Given the description of an element on the screen output the (x, y) to click on. 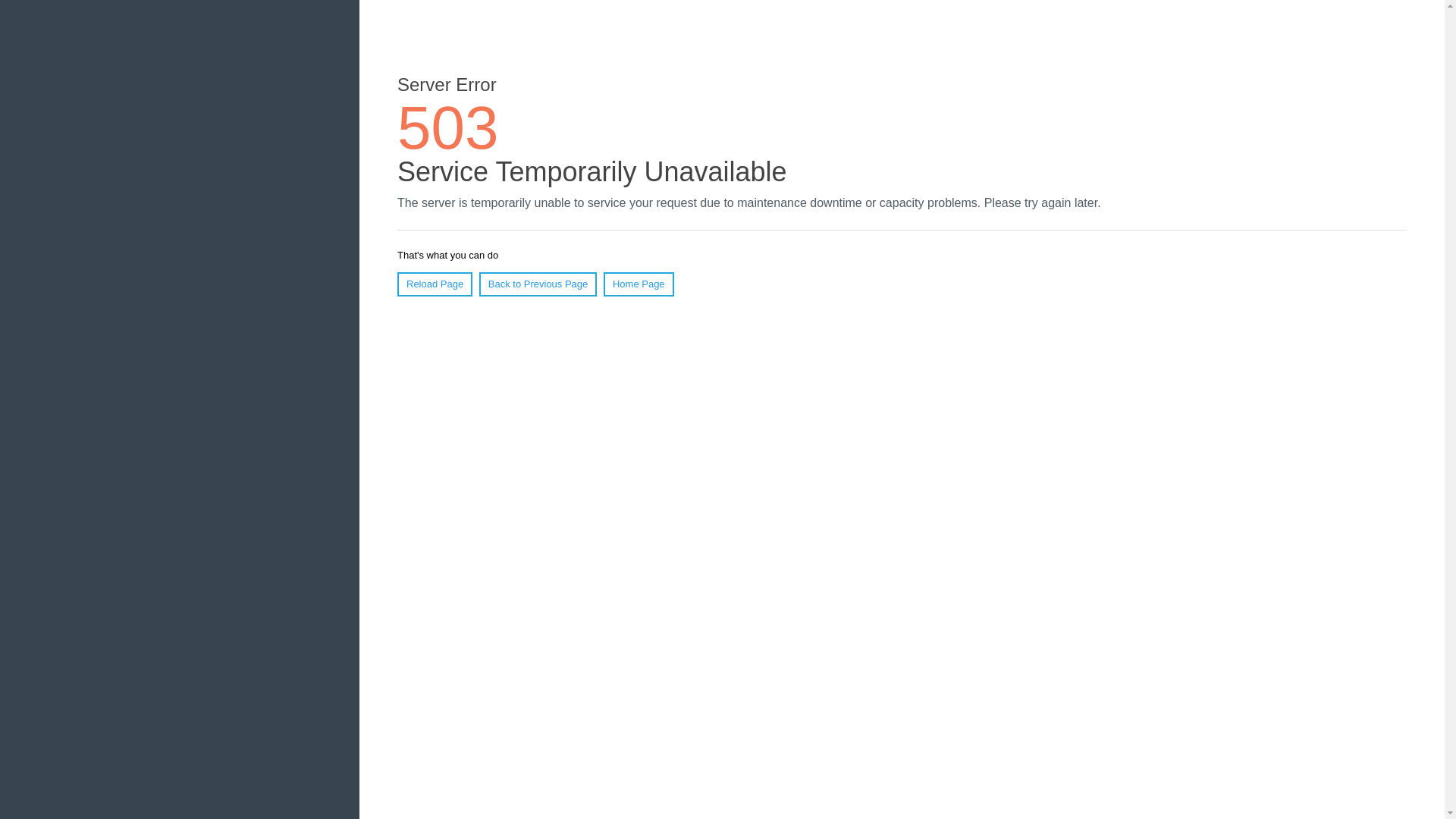
Reload Page (434, 283)
Back to Previous Page (537, 283)
Home Page (639, 283)
